Given the description of an element on the screen output the (x, y) to click on. 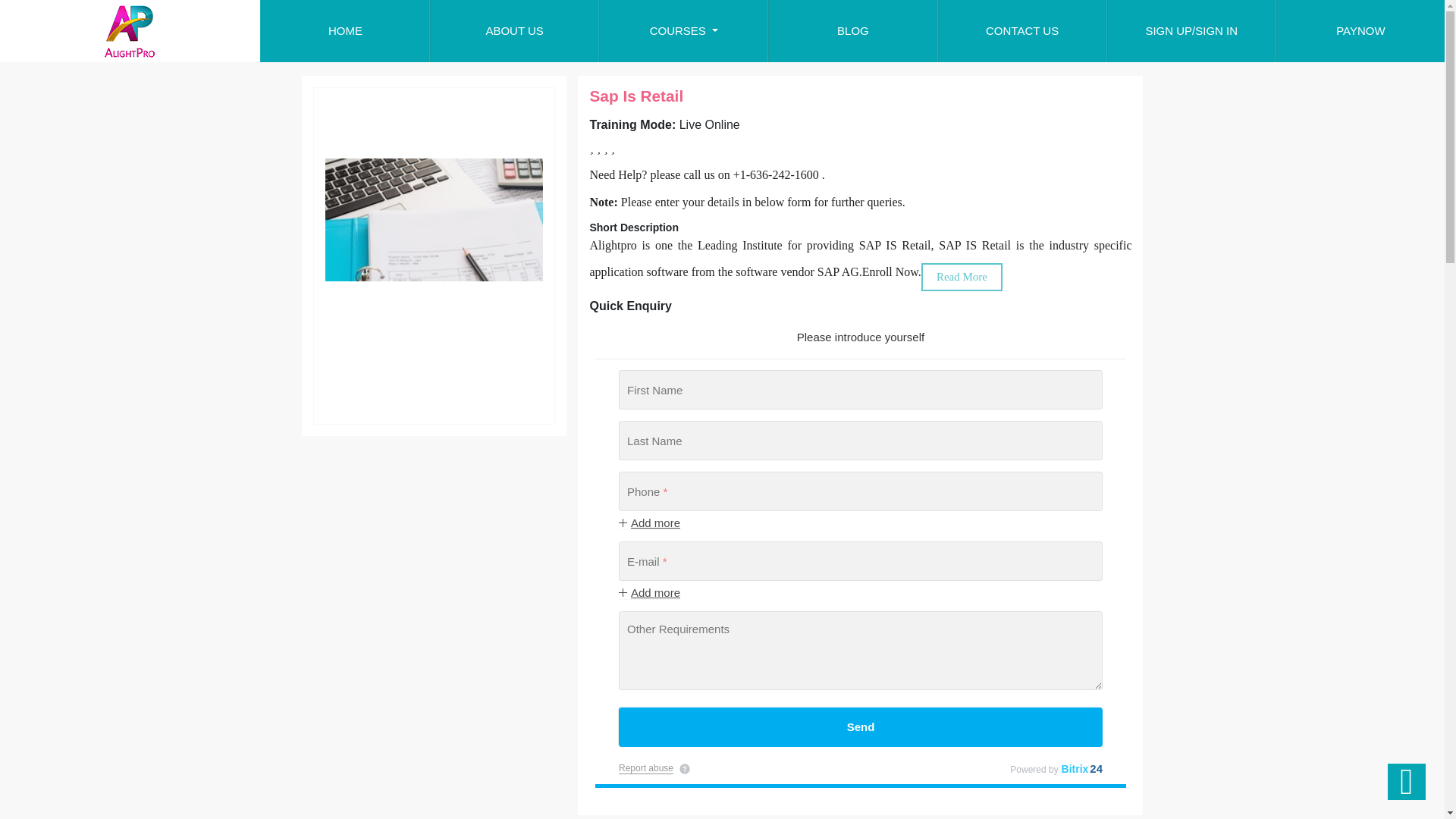
COURSES (682, 31)
Go to top (1406, 781)
CONTACT US (1021, 31)
HOME (344, 31)
BLOG (851, 31)
ABOUT US (513, 31)
Report abuse (645, 767)
Add more (648, 522)
Add more (648, 592)
